Given the description of an element on the screen output the (x, y) to click on. 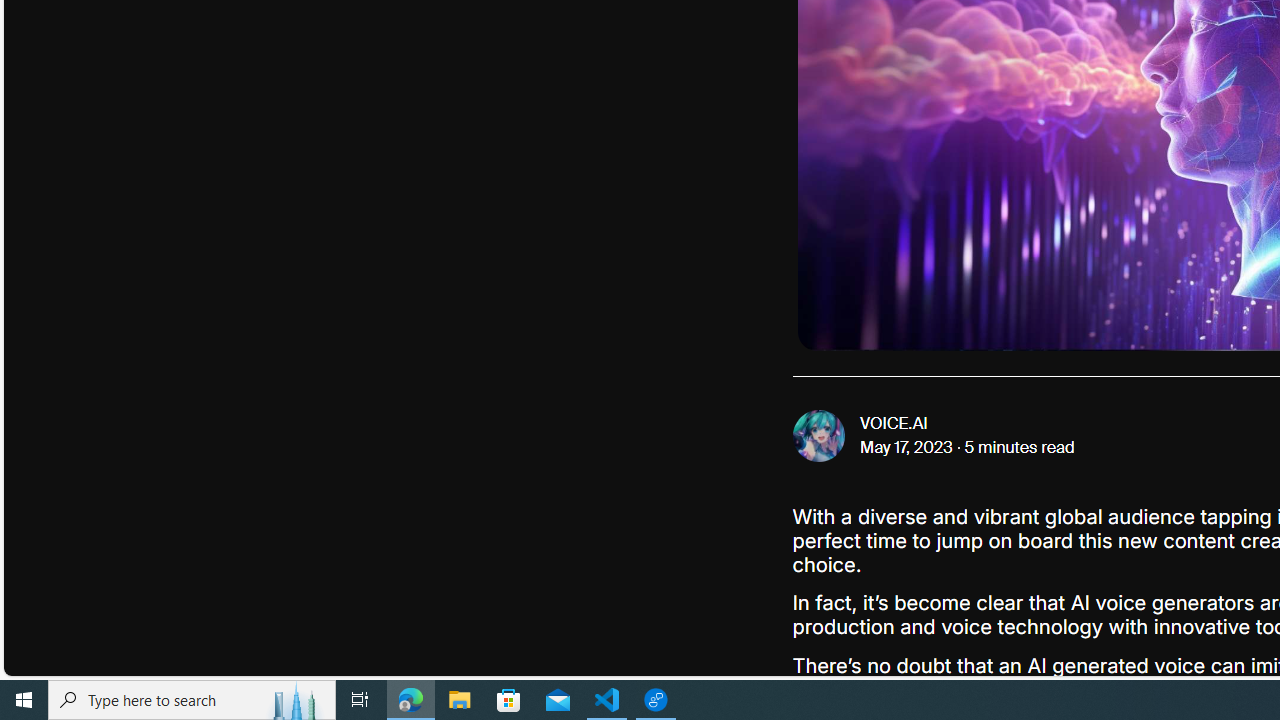
VOICE.AI (894, 423)
5 minutes read (1019, 448)
May 17, 2023 (907, 448)
